Given the description of an element on the screen output the (x, y) to click on. 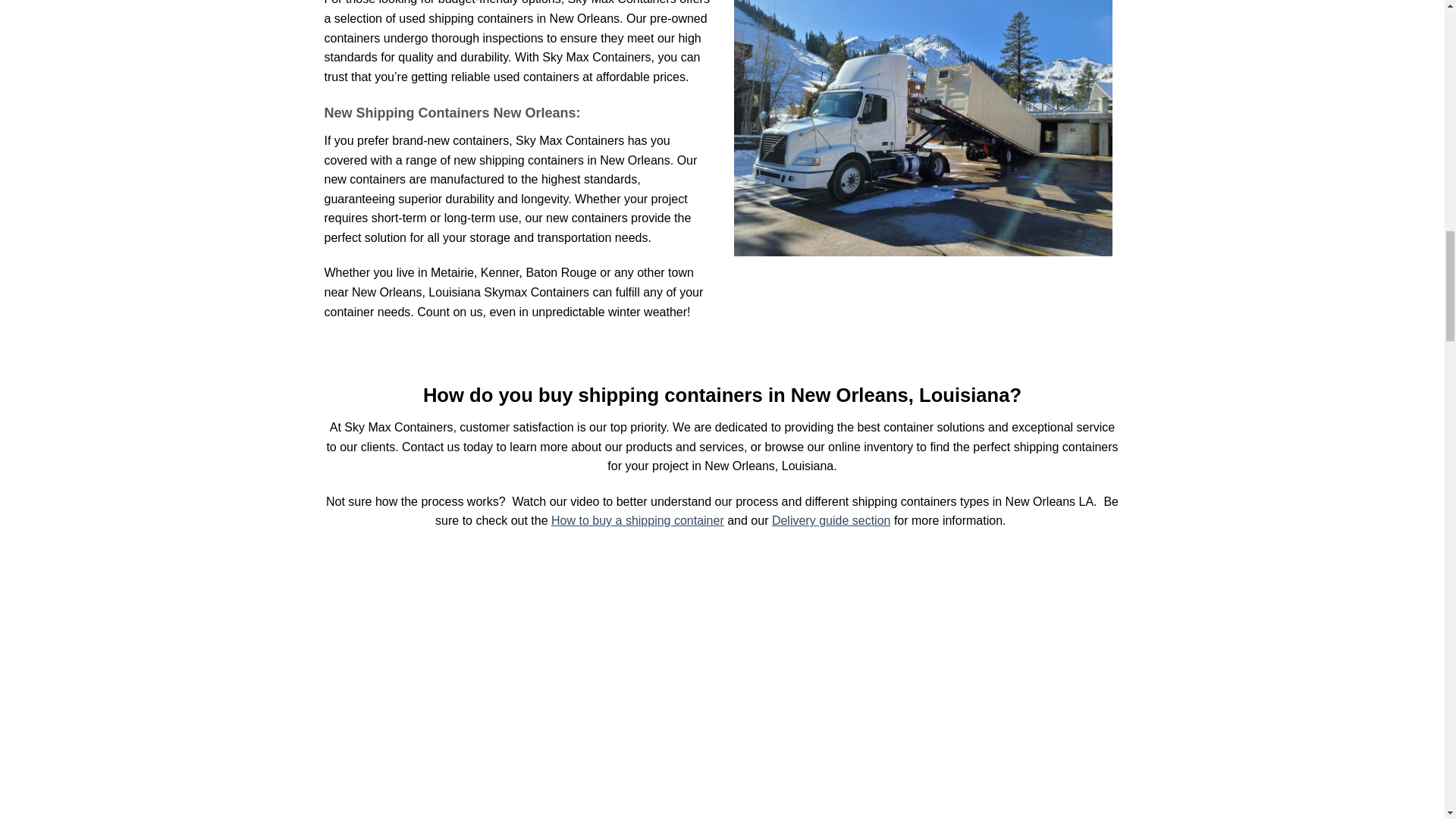
How to buy a shipping container (637, 520)
Delivery guide section (831, 520)
